Given the description of an element on the screen output the (x, y) to click on. 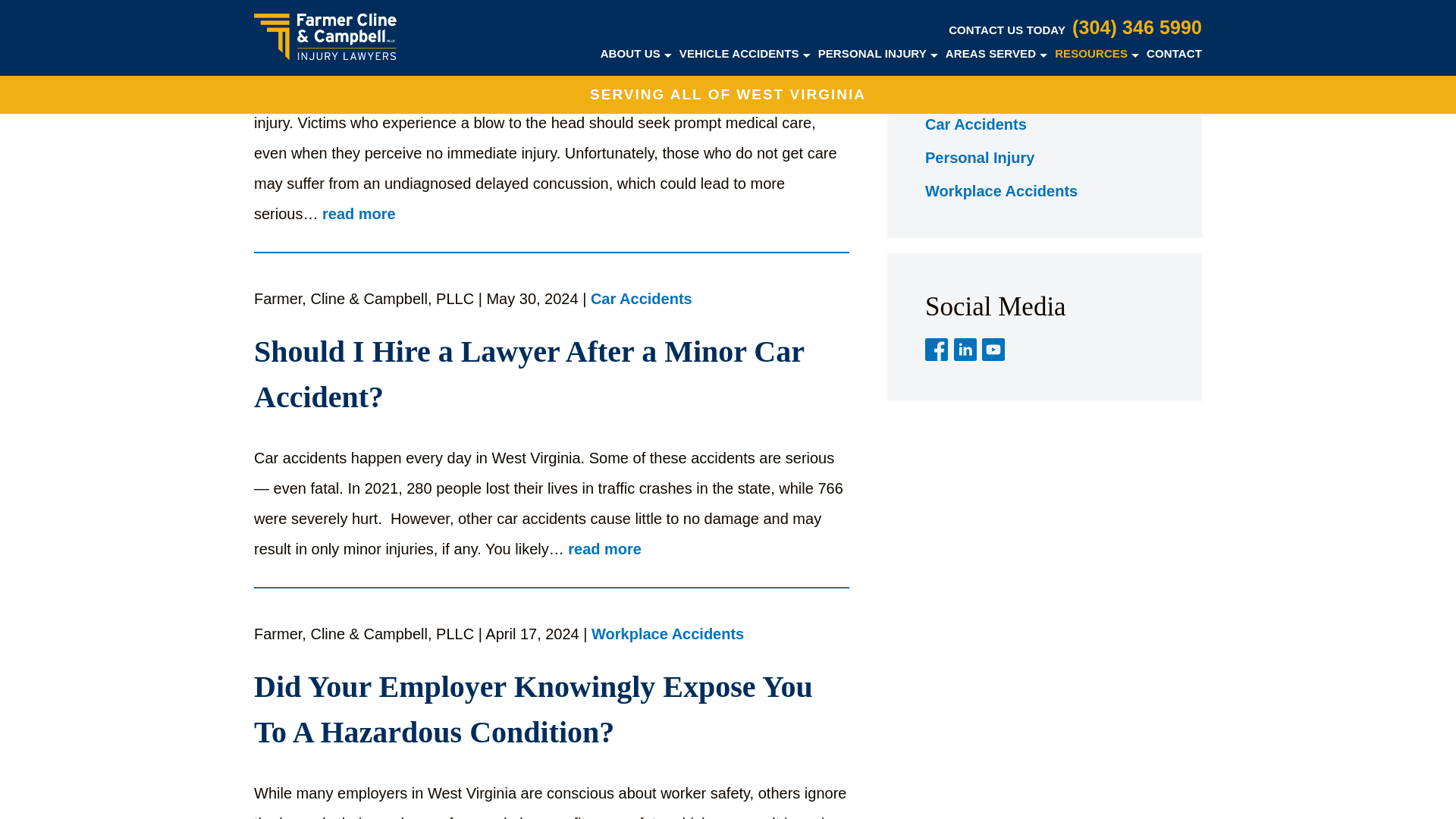
Workplace Accidents (667, 634)
read more (604, 549)
Should I Hire a Lawyer After a Minor Car Accident? (550, 374)
Car Accidents (642, 299)
read more (358, 214)
Delayed Concussion Symptoms (550, 31)
